Given the description of an element on the screen output the (x, y) to click on. 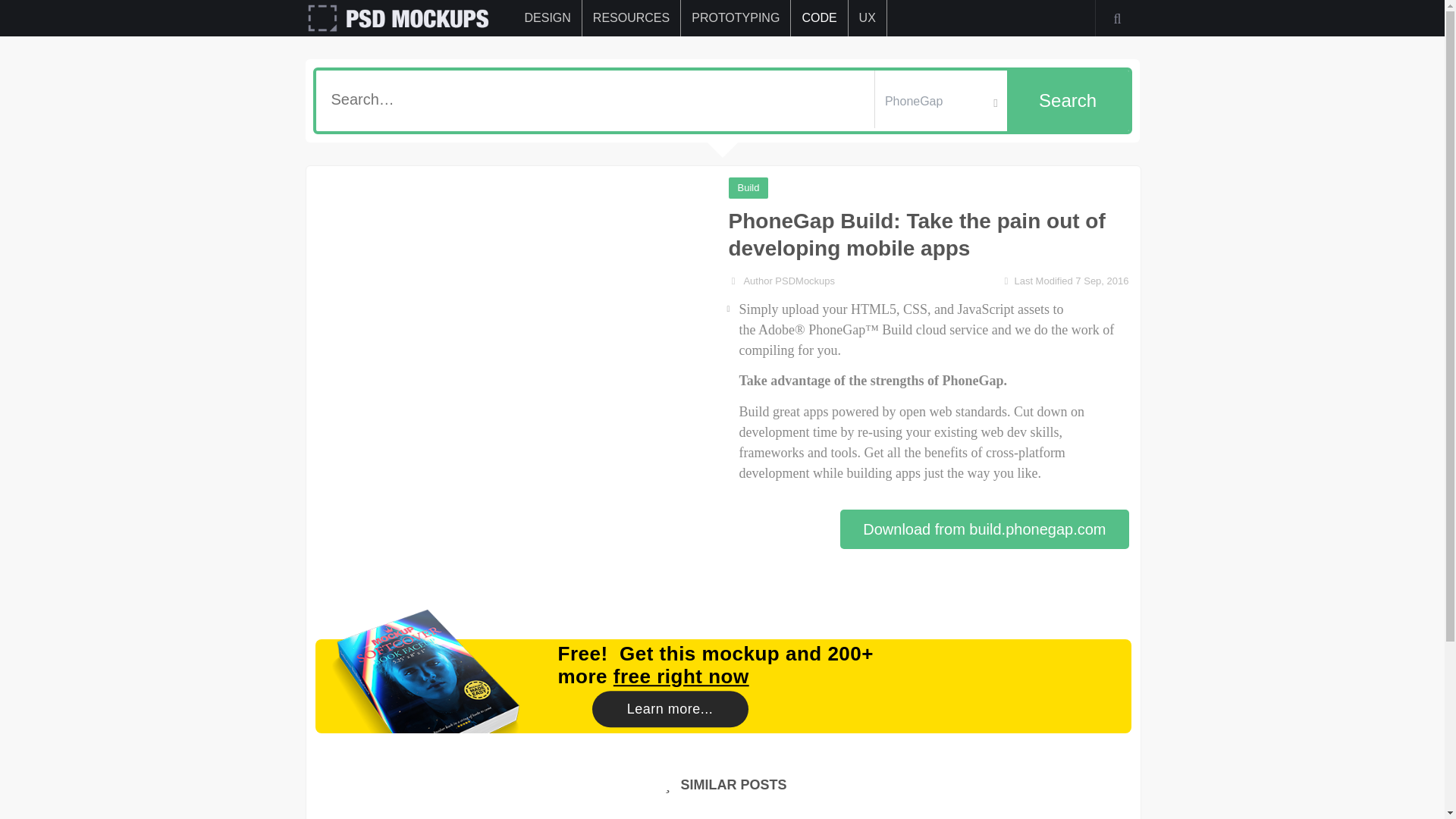
CODE (818, 18)
RESOURCES (630, 18)
Search (1068, 100)
Learn more... (669, 709)
Spinnable Mockups (424, 714)
UX (867, 18)
PSDMockups (804, 280)
Download from build.phonegap.com (984, 528)
Build (748, 188)
PROTOTYPING (735, 18)
DESIGN (546, 18)
